Given the description of an element on the screen output the (x, y) to click on. 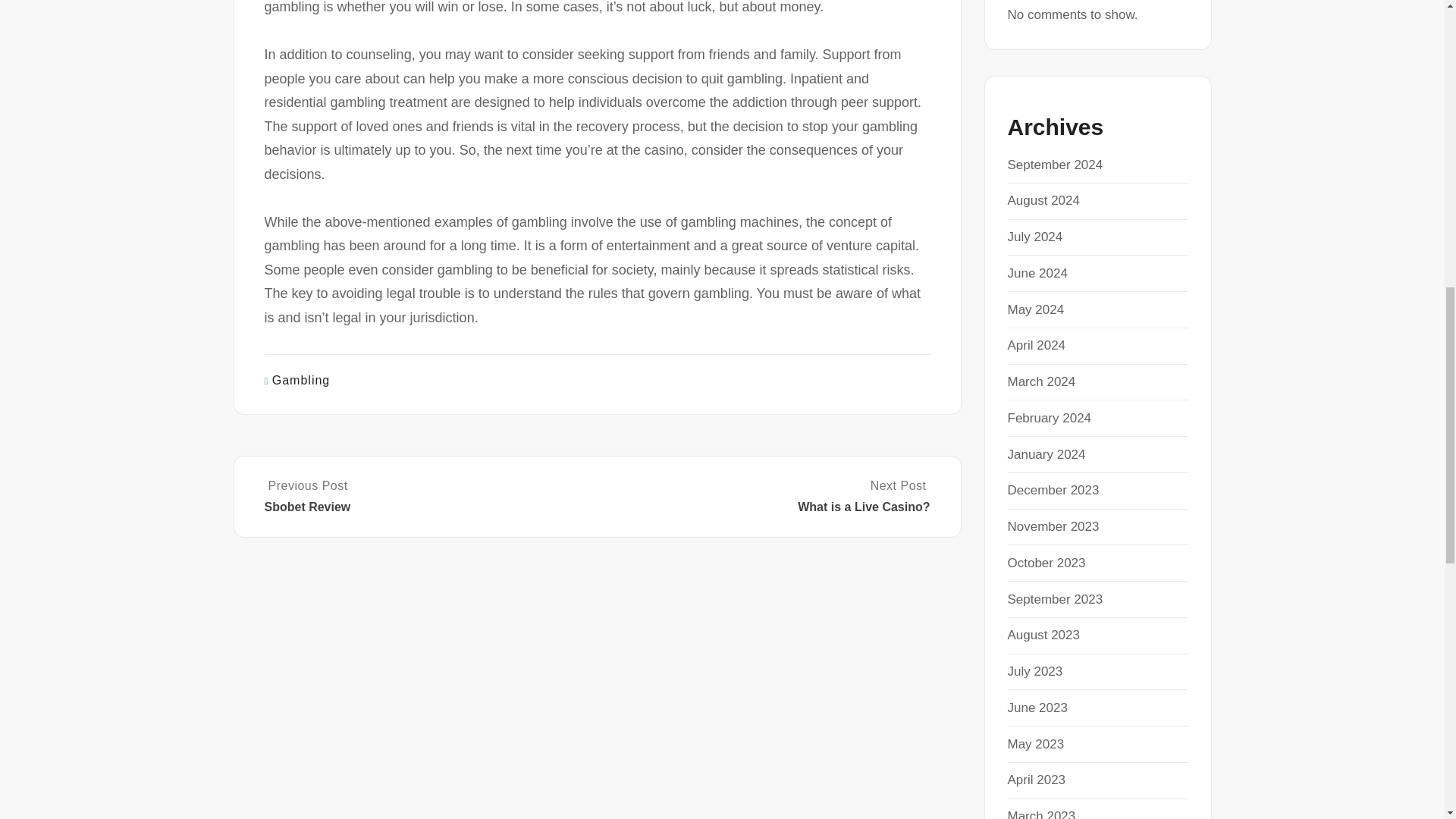
November 2023 (1053, 526)
January 2024 (1045, 454)
February 2024 (1048, 418)
June 2024 (1037, 273)
August 2024 (1042, 200)
Gambling (301, 379)
September 2024 (1054, 164)
April 2024 (1036, 345)
July 2024 (1034, 237)
